Given the description of an element on the screen output the (x, y) to click on. 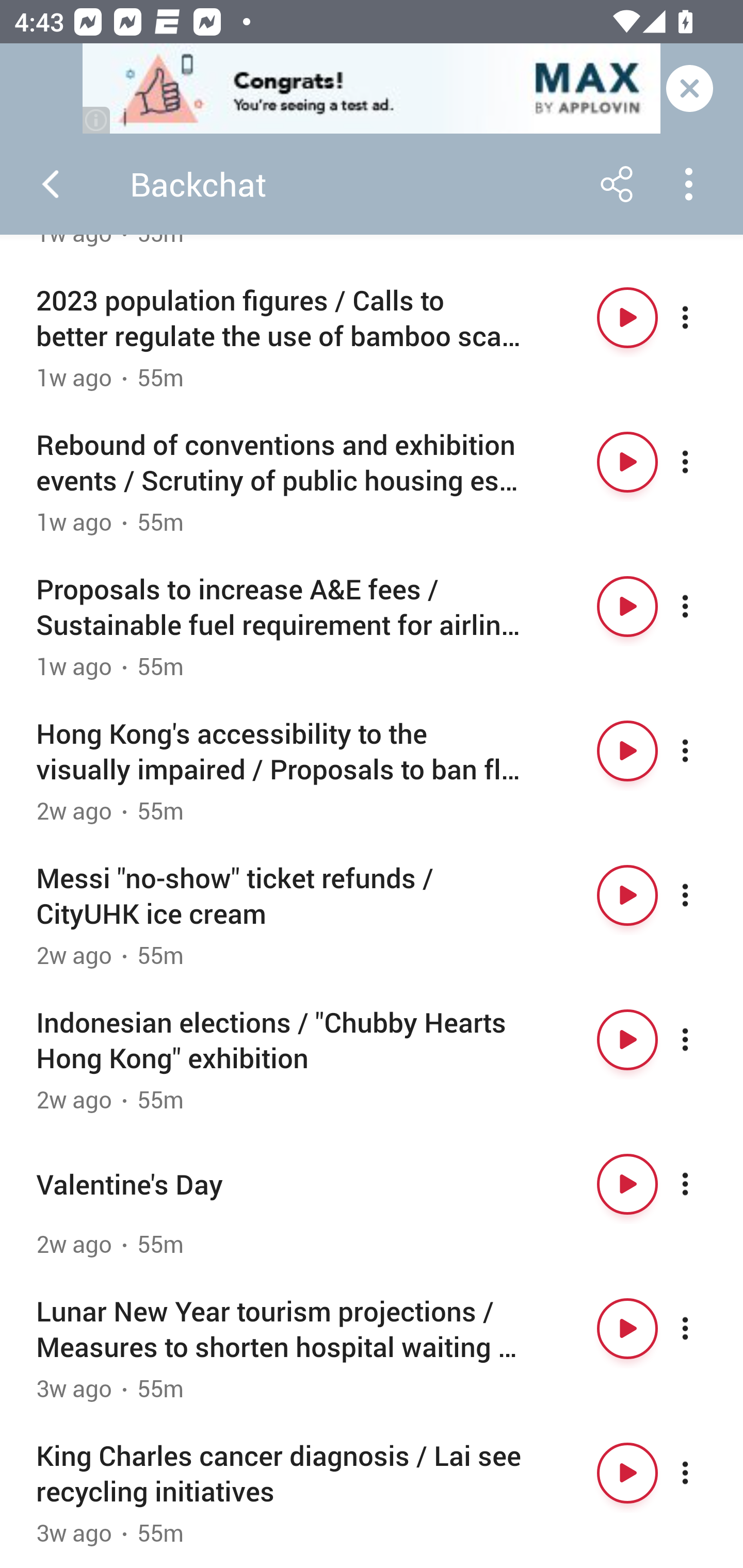
app-monetization (371, 88)
(i) (96, 119)
Back (50, 184)
Play button (627, 317)
More options (703, 317)
Play button (627, 461)
More options (703, 461)
Play button (627, 606)
More options (703, 606)
Play button (627, 750)
More options (703, 750)
Play button (627, 895)
More options (703, 895)
Play button (627, 1039)
More options (703, 1039)
Play button (627, 1184)
More options (703, 1184)
Play button (627, 1328)
More options (703, 1328)
Play button (627, 1473)
More options (703, 1473)
